Given the description of an element on the screen output the (x, y) to click on. 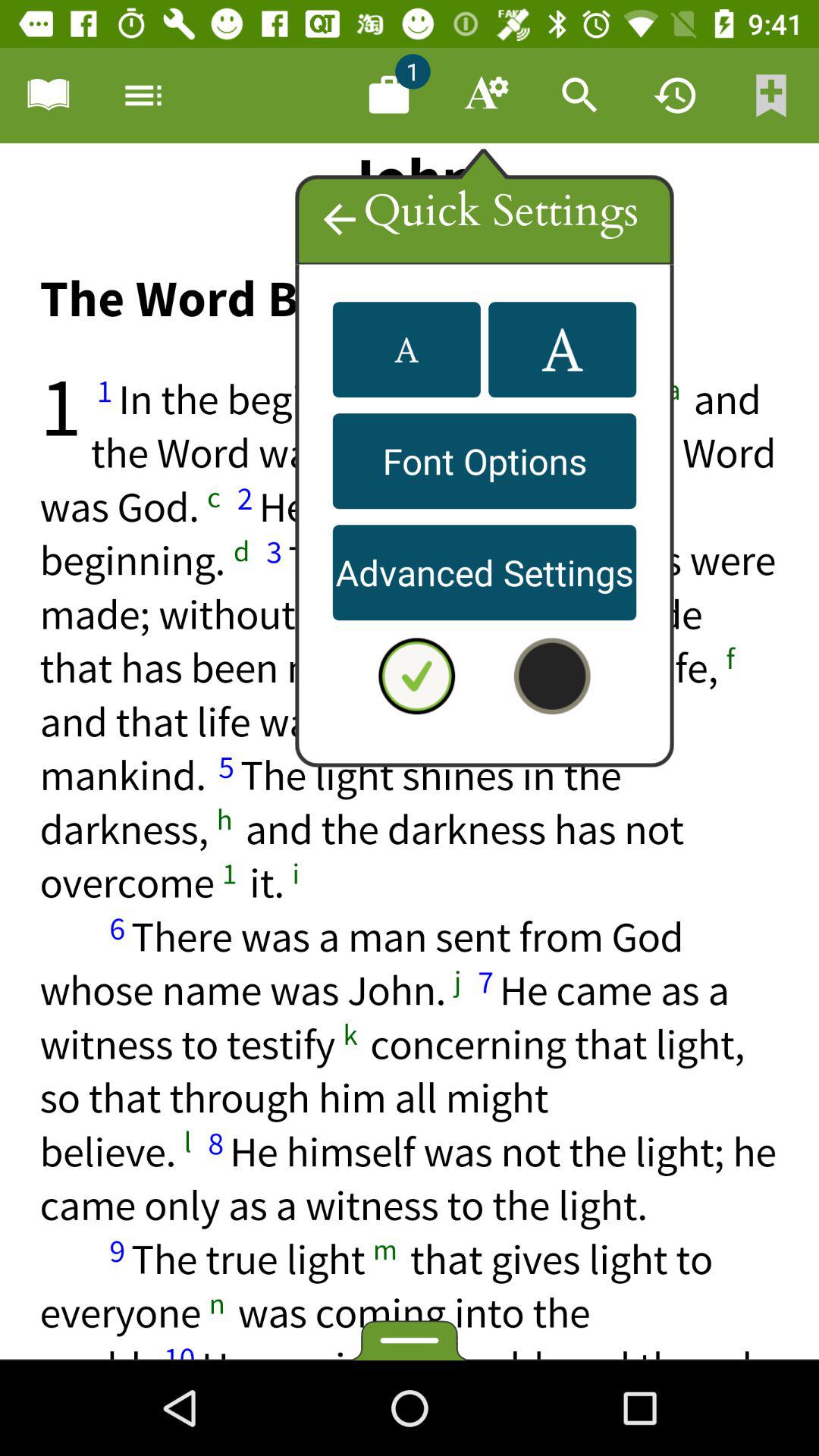
add a bookmark (47, 95)
